Given the description of an element on the screen output the (x, y) to click on. 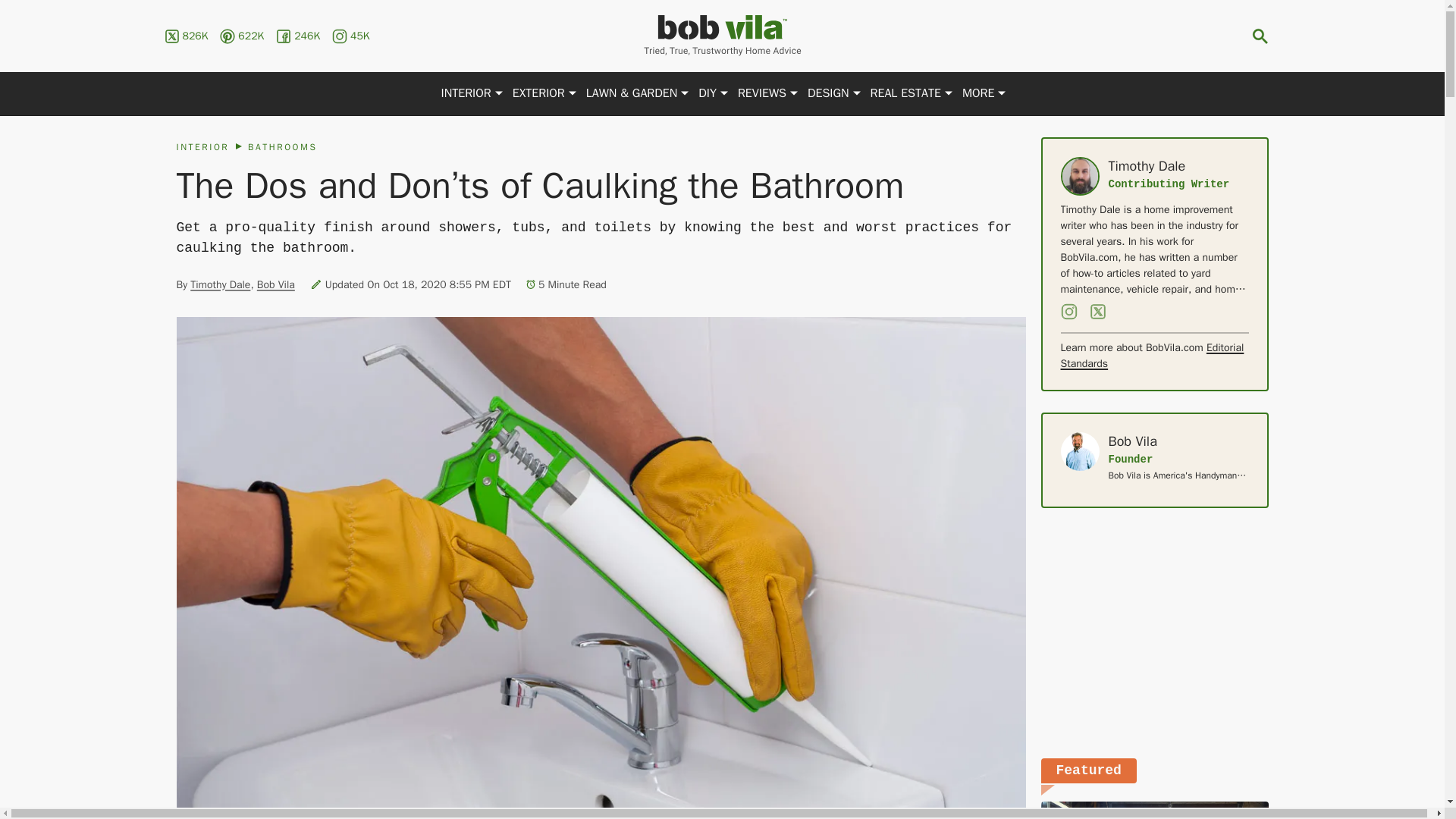
3rd party ad content (1154, 633)
